Given the description of an element on the screen output the (x, y) to click on. 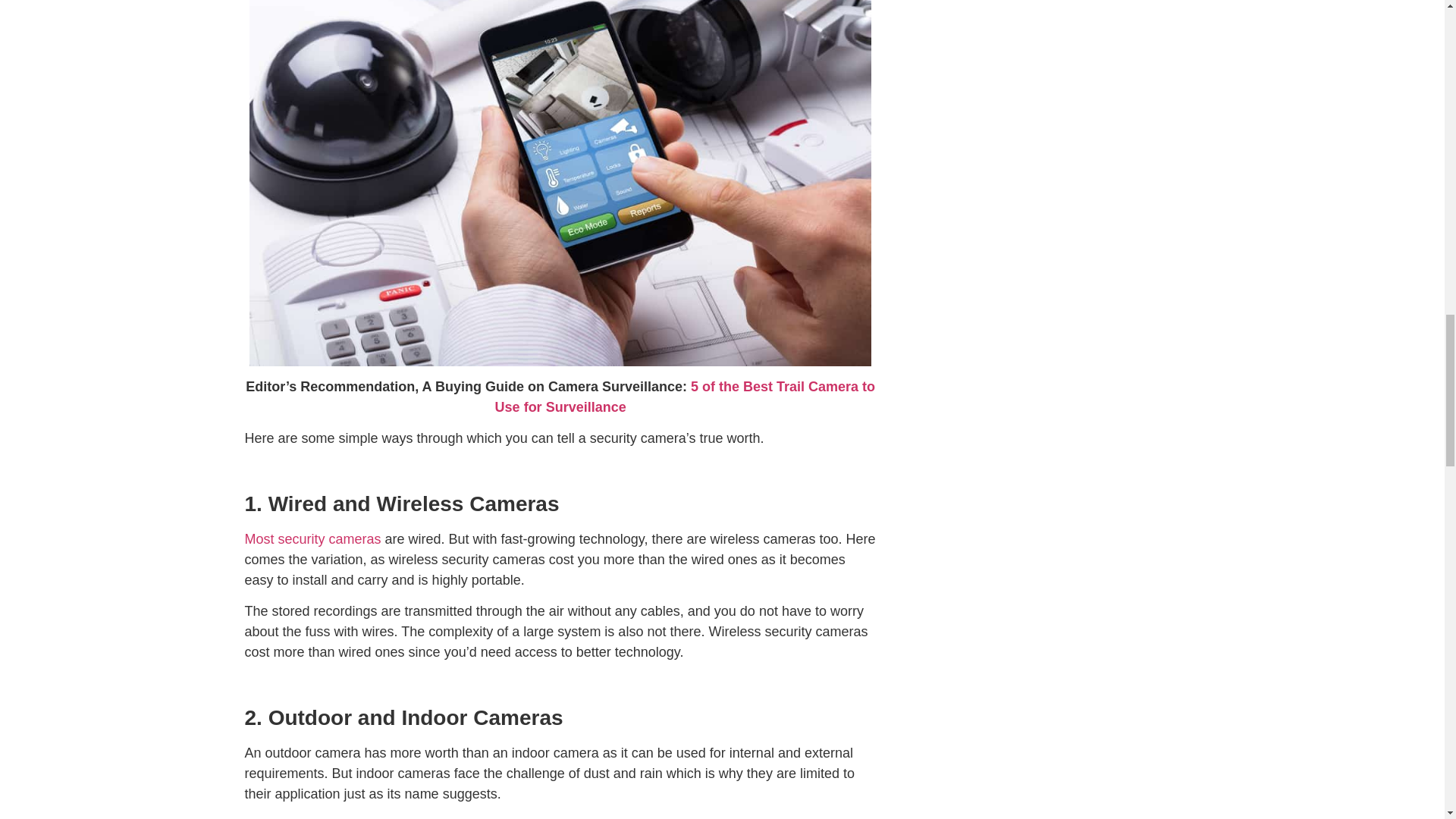
Outdoor cameras (296, 818)
5 of the Best Trail Camera to Use for Surveillance (685, 396)
Most security cameras (312, 539)
